Given the description of an element on the screen output the (x, y) to click on. 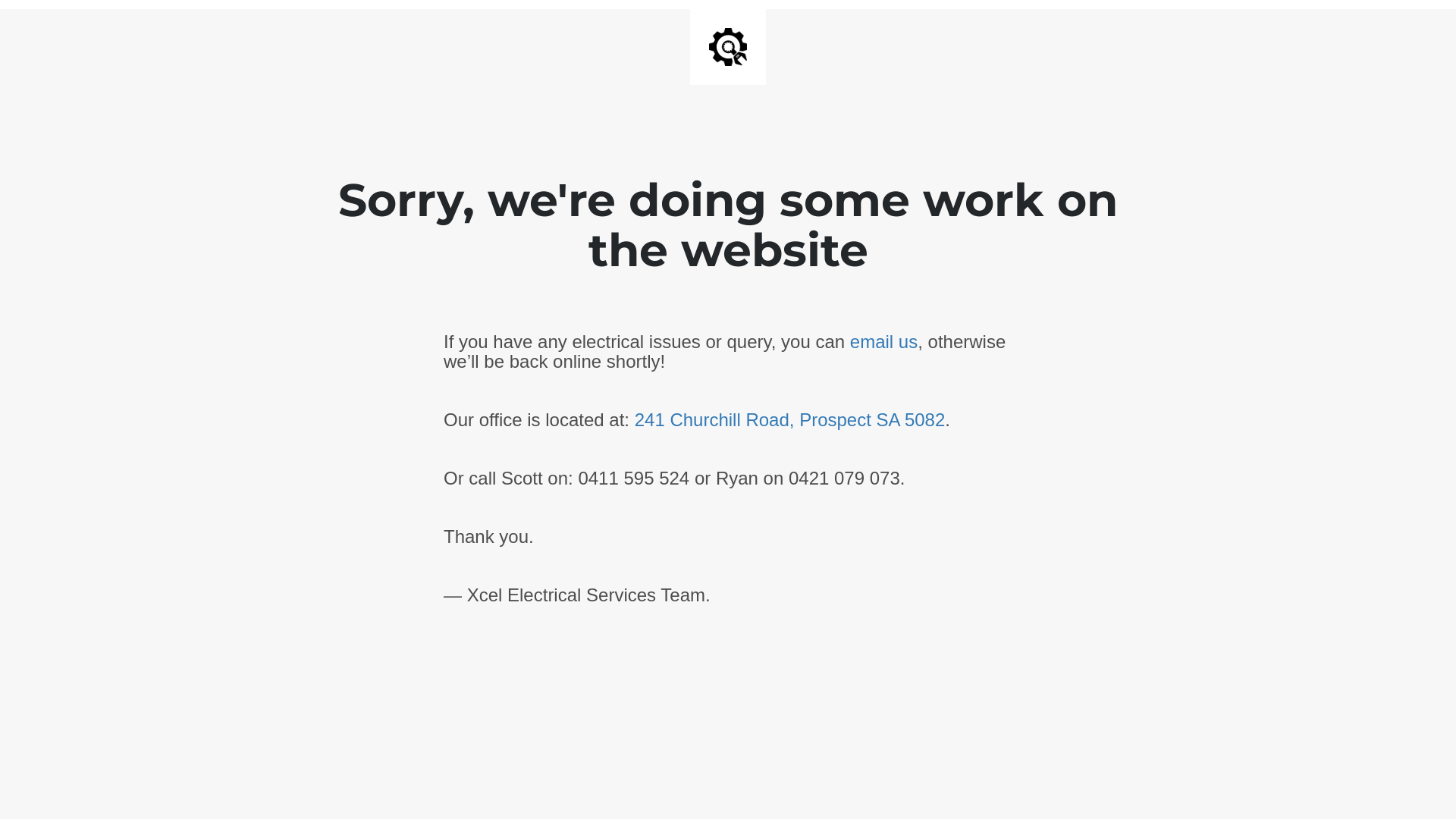
Site is Under Construction Element type: hover (727, 46)
email us Element type: text (883, 341)
241 Churchill Road, Prospect SA 5082 Element type: text (789, 419)
